Given the description of an element on the screen output the (x, y) to click on. 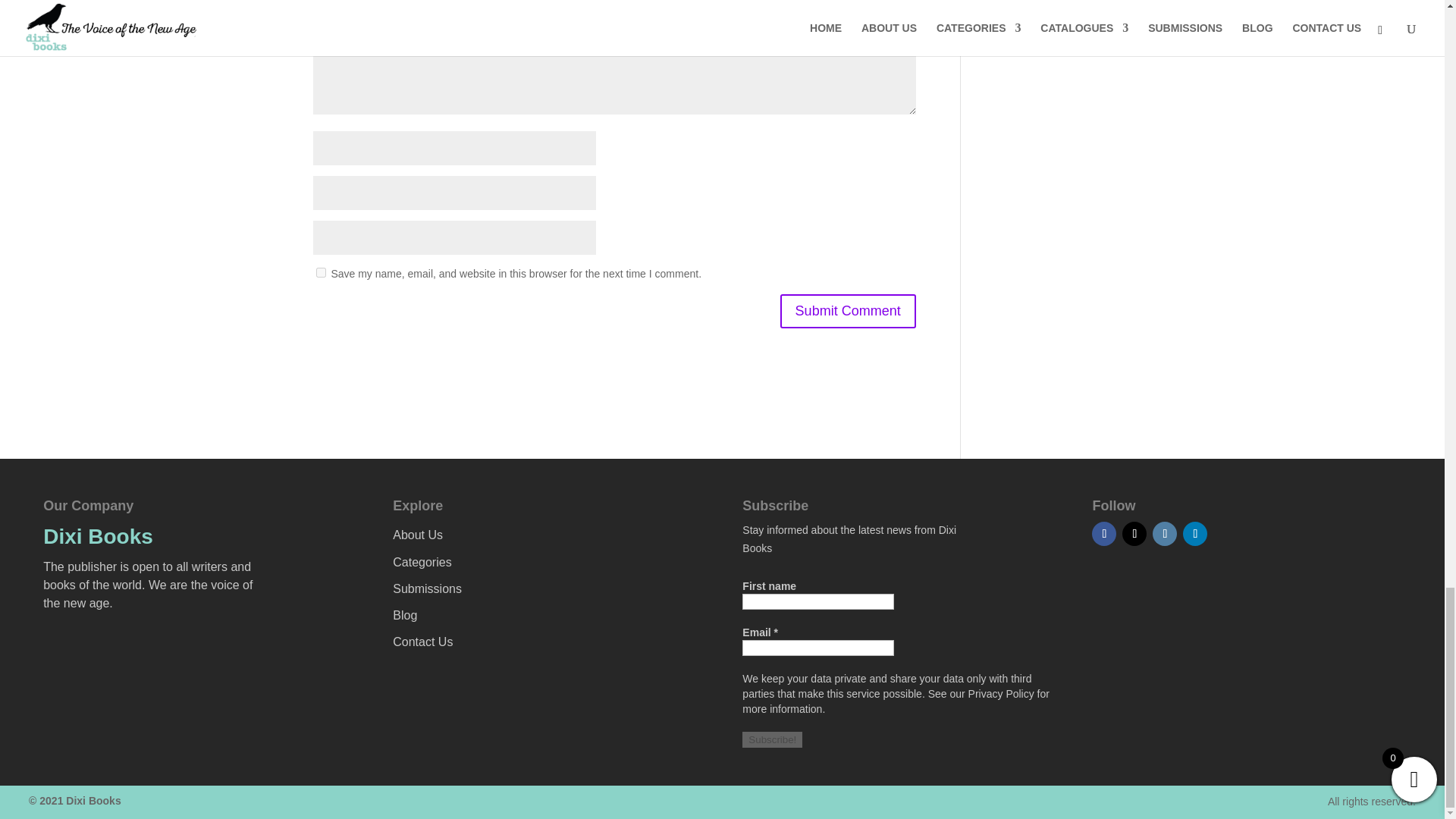
yes (319, 272)
Follow on Twitter (1134, 533)
First name (817, 601)
Submit Comment (847, 311)
Submit Comment (847, 311)
Follow on LinkedIn (1194, 533)
Email (817, 647)
Follow on Facebook (1104, 533)
Subscribe! (772, 739)
Follow on Instagram (1164, 533)
